Given the description of an element on the screen output the (x, y) to click on. 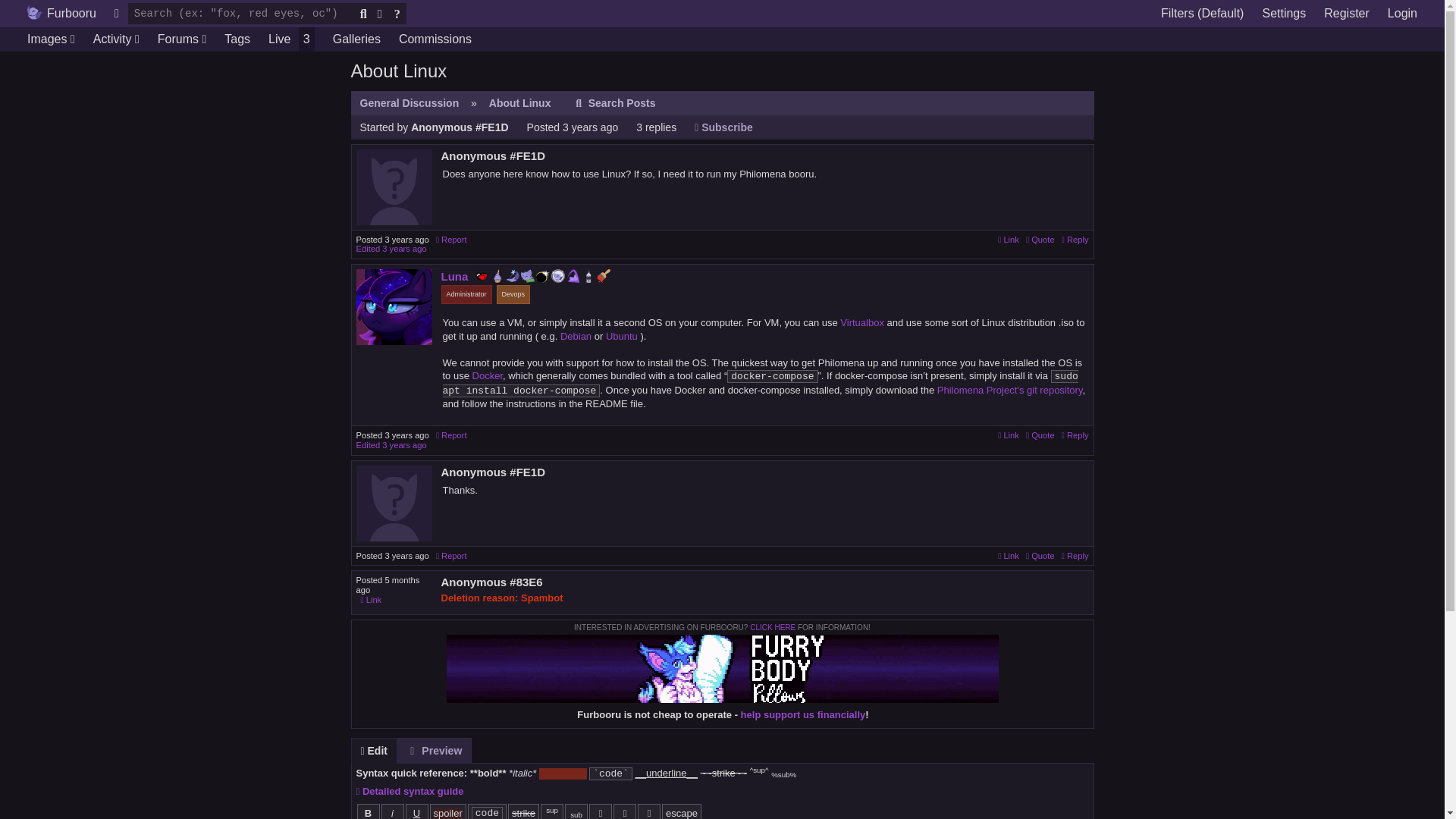
Galleries (356, 39)
02:37:01, April 14, 2021 (403, 248)
Since the Beginning - Registered before the site was public (572, 275)
Platinum Piece - Platinum Supporter on Patreon (557, 275)
02:36:52, April 14, 2021 (589, 127)
Images (50, 39)
Activity (116, 39)
Commissions (435, 39)
General Discussion (408, 102)
14:08:15, April 15, 2021 (406, 434)
Login (1402, 13)
02:36:52, April 14, 2021 (406, 239)
